Given the description of an element on the screen output the (x, y) to click on. 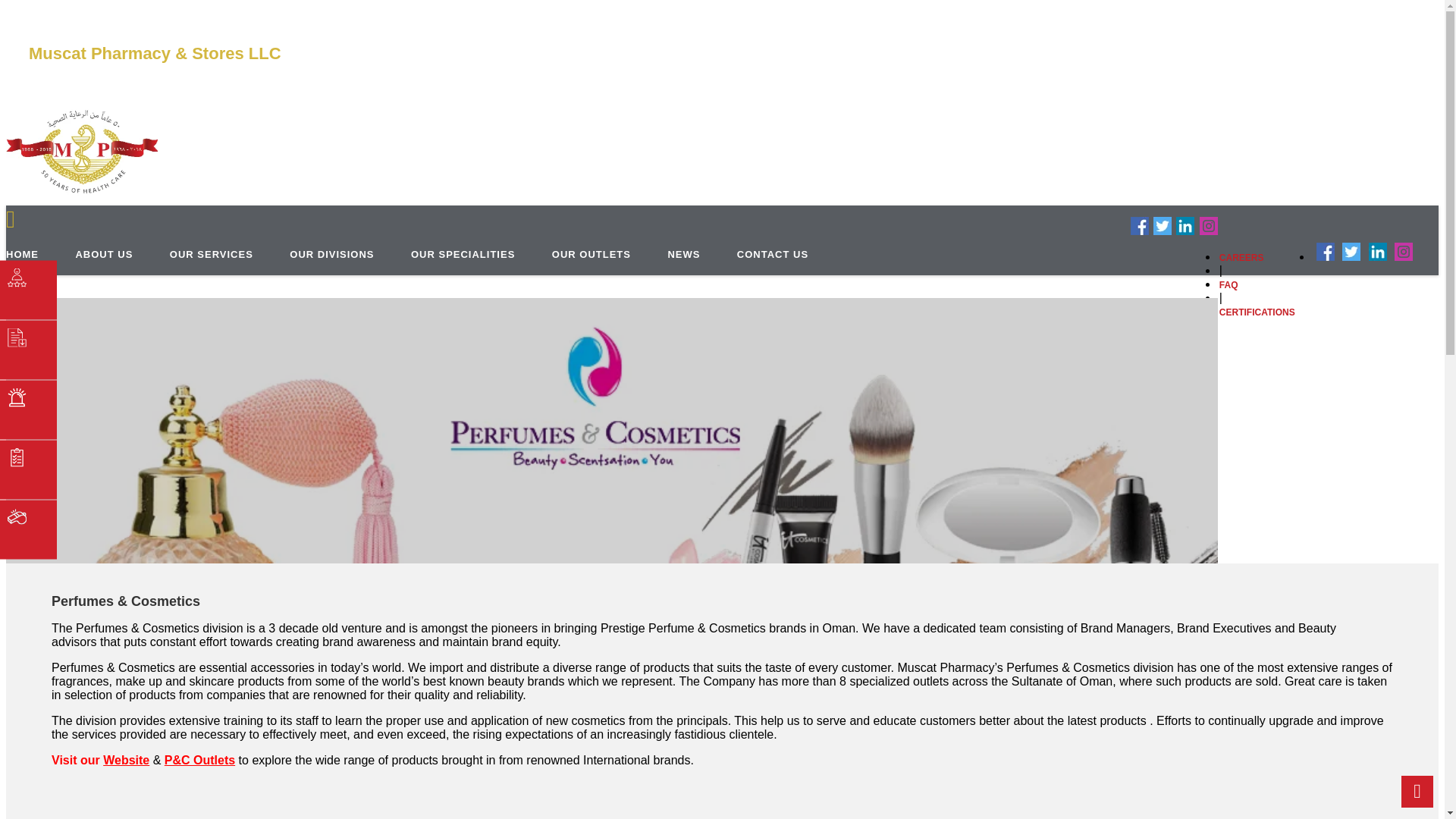
Whistle Blower! (28, 529)
Feedback! (28, 290)
Product Enquiry (28, 468)
OUR SPECIALITIES (462, 254)
Dowloadable forms (28, 349)
Report Adverse Event. (28, 409)
